Given the description of an element on the screen output the (x, y) to click on. 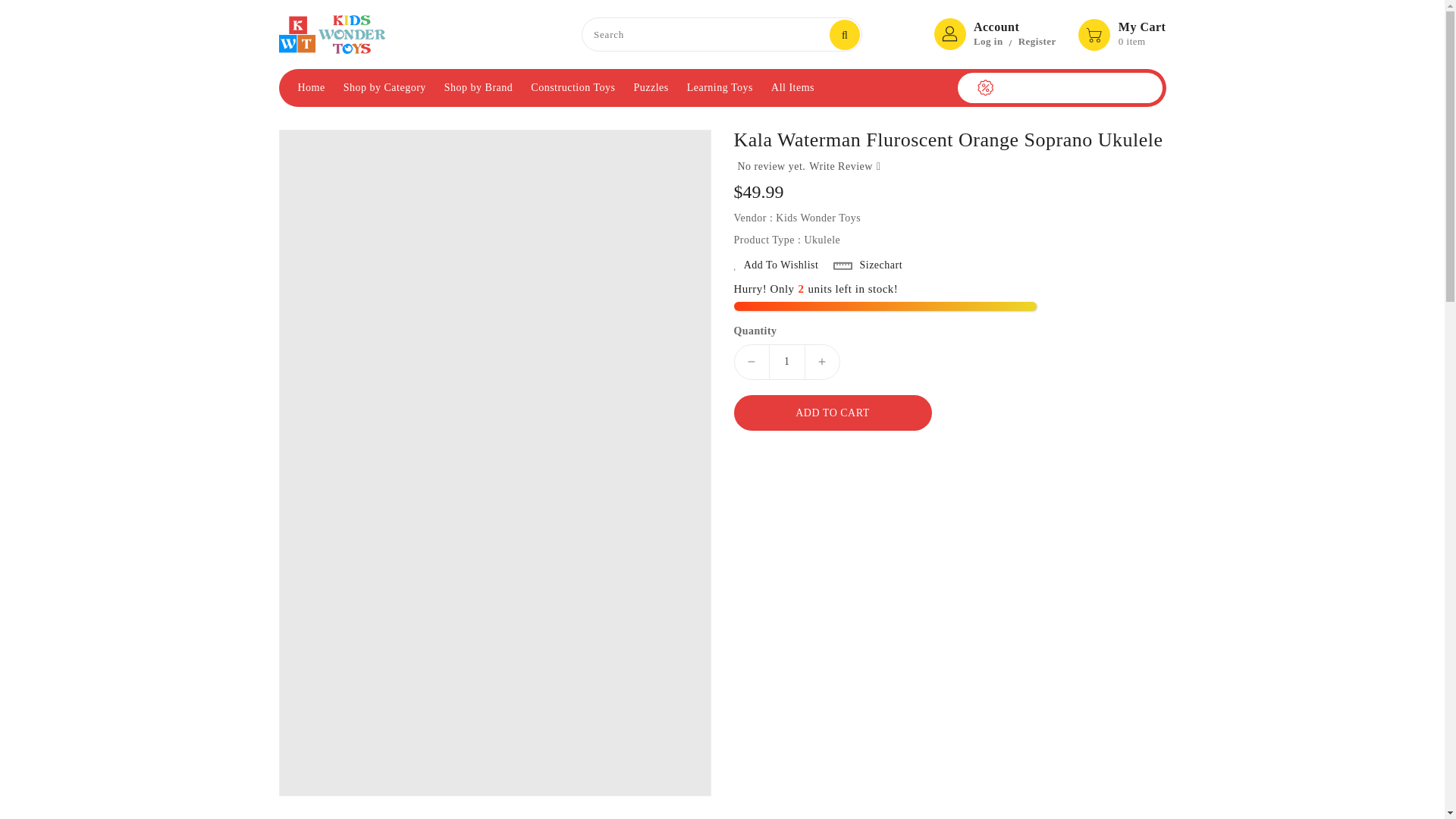
SKIP TO CONTENT (11, 7)
Shop by Brand (478, 87)
Home (310, 87)
Shop by Category (384, 87)
1 (786, 361)
